Given the description of an element on the screen output the (x, y) to click on. 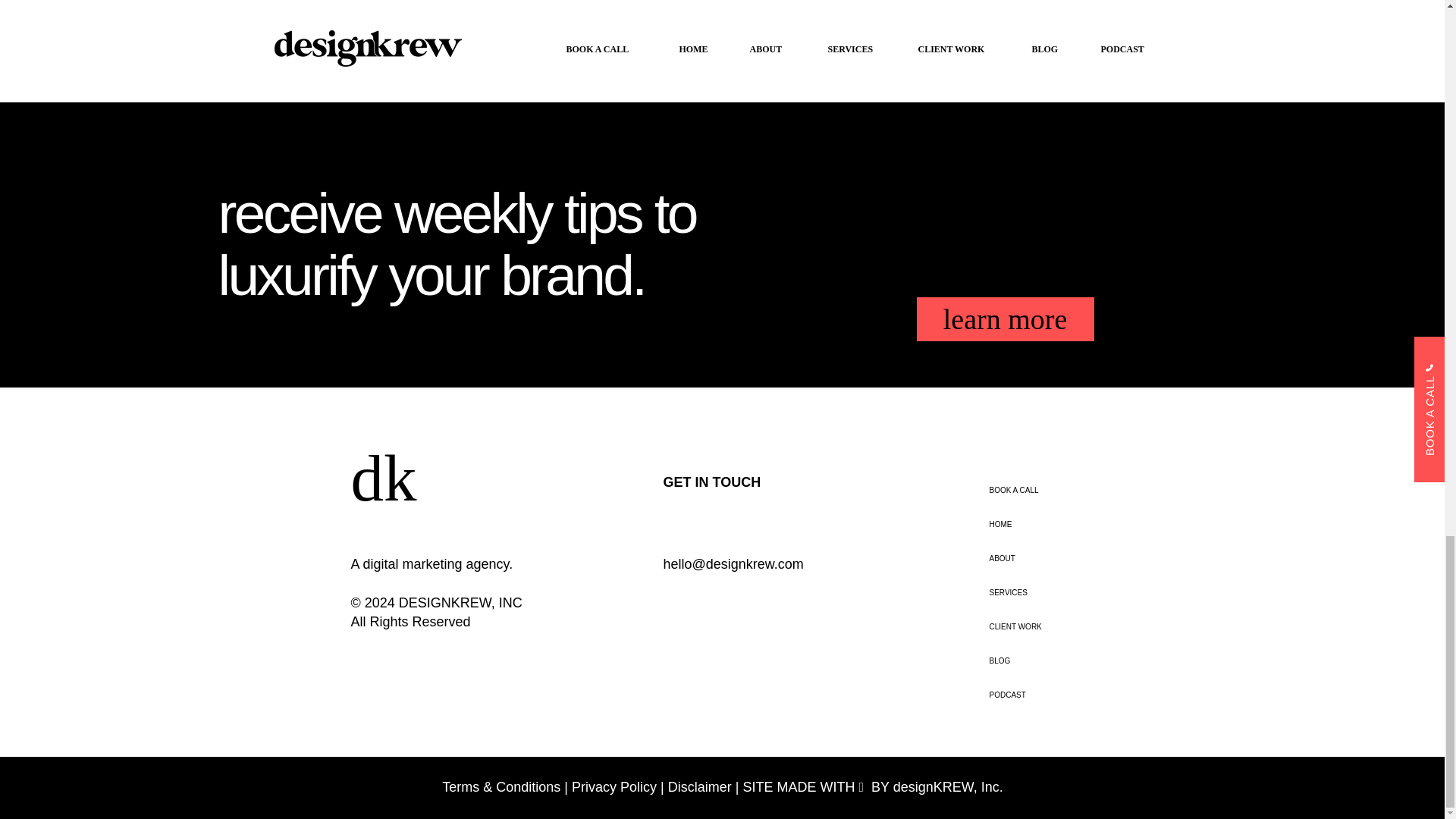
0 (435, 45)
0 (681, 45)
Post not marked as liked (558, 45)
learn more (1004, 318)
Post not marked as liked (804, 45)
dk (383, 477)
Post not marked as liked (1050, 45)
0 (926, 45)
